Given the description of an element on the screen output the (x, y) to click on. 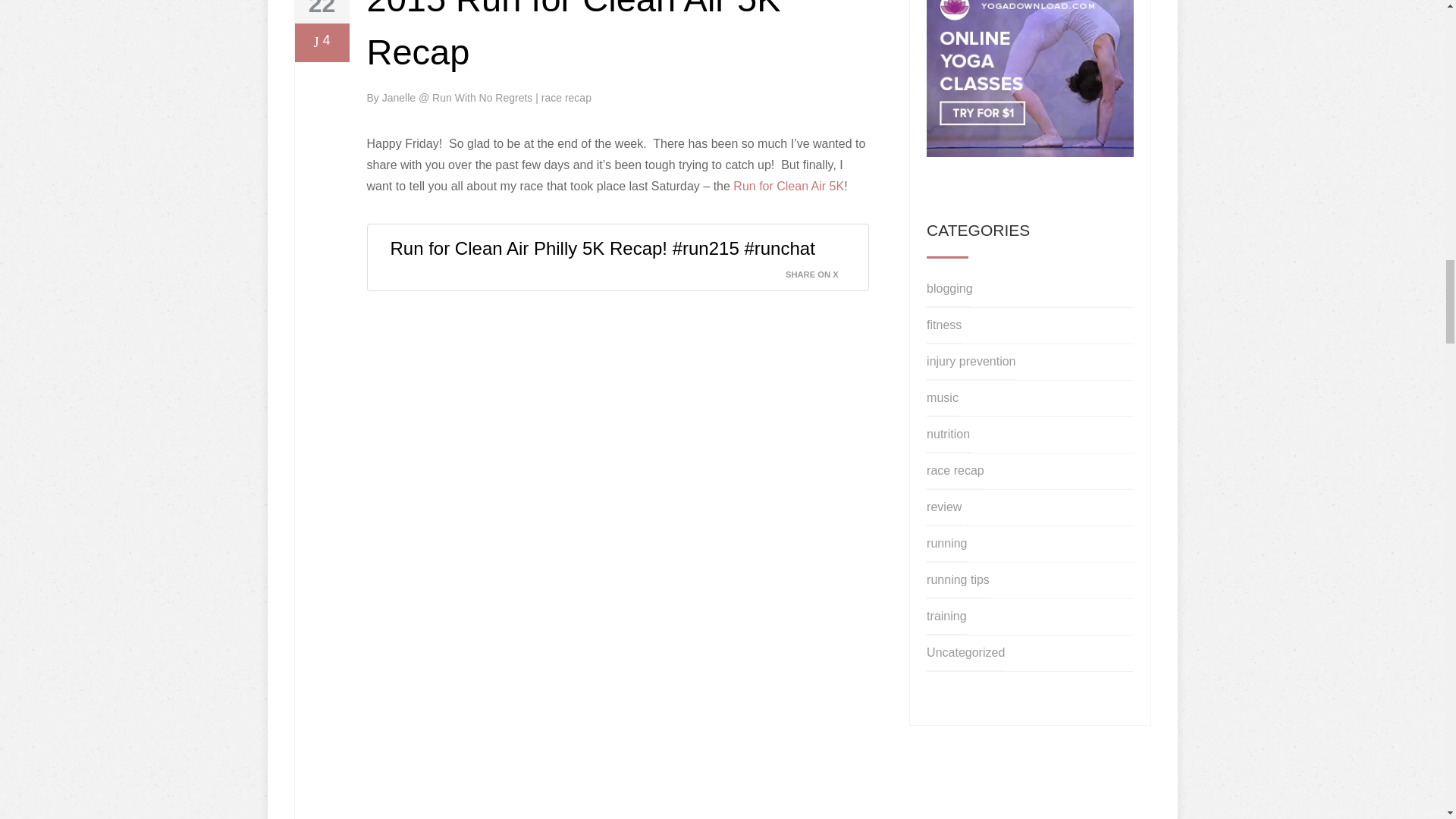
SHARE ON X (821, 270)
2015 Run for Clean Air 5K Recap (573, 36)
race recap (566, 97)
Run for Clean Air 5K (788, 185)
